Given the description of an element on the screen output the (x, y) to click on. 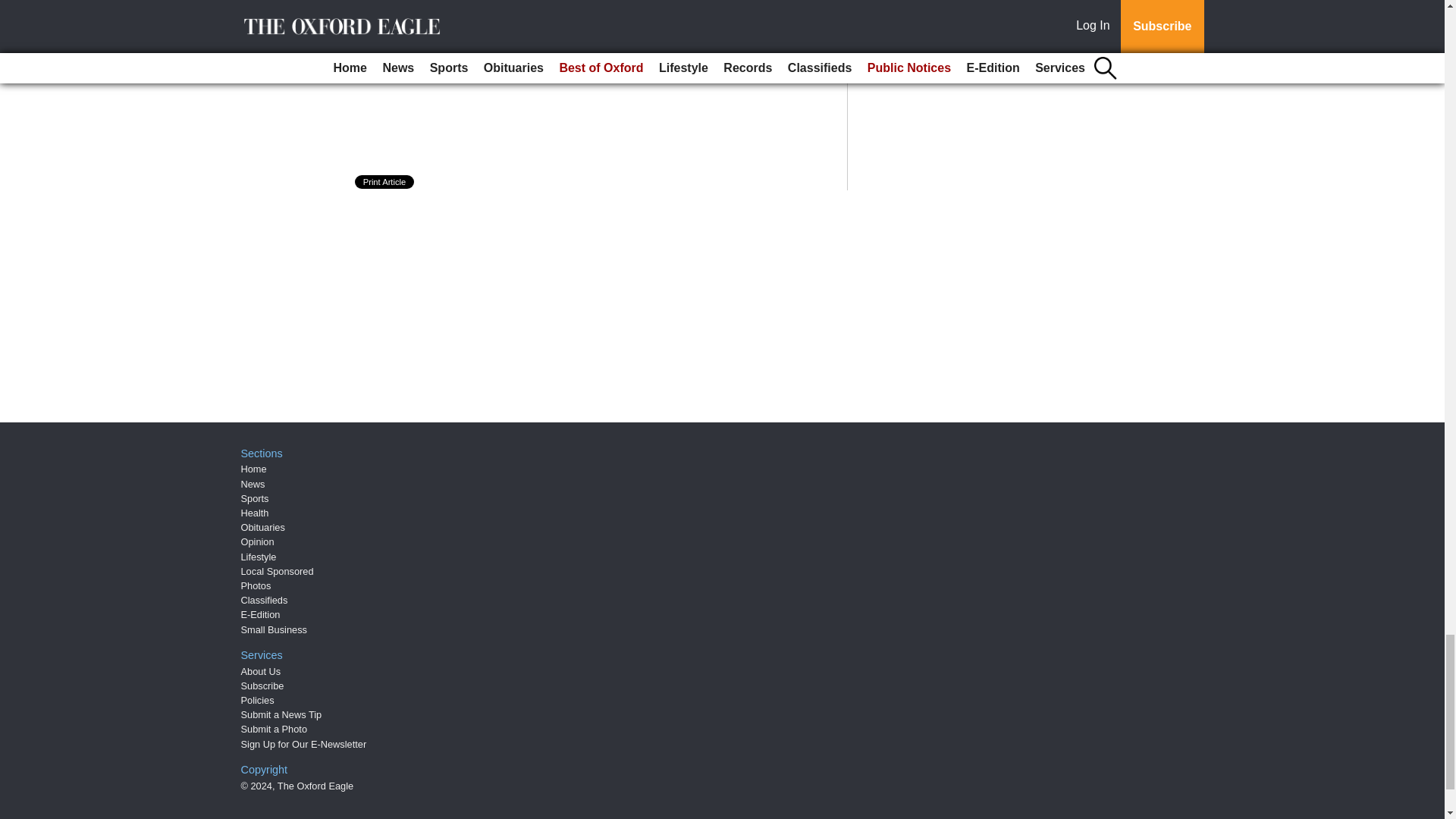
Print Article (384, 182)
